Given the description of an element on the screen output the (x, y) to click on. 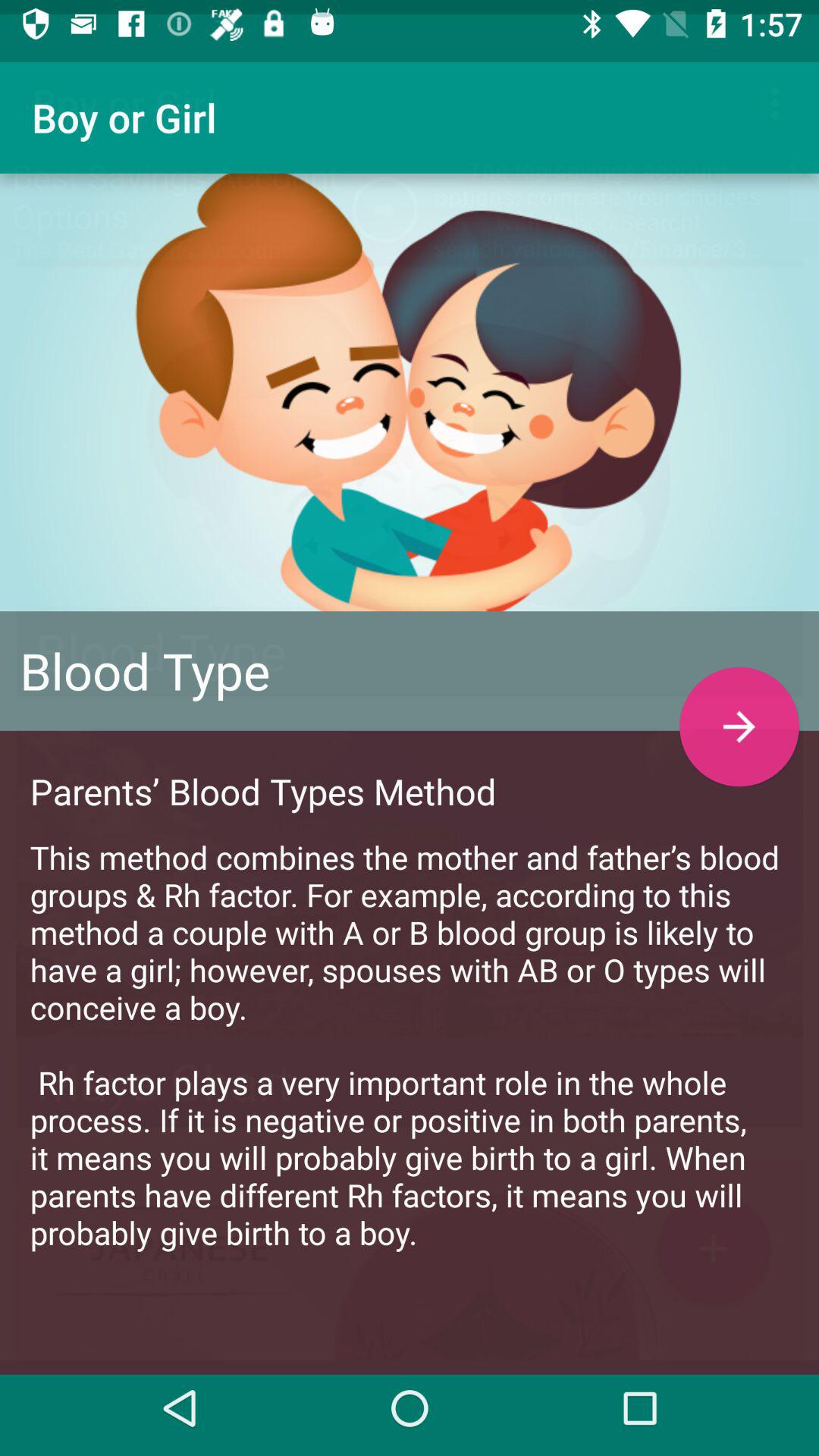
choose the app to the right of the parents blood types (739, 712)
